Given the description of an element on the screen output the (x, y) to click on. 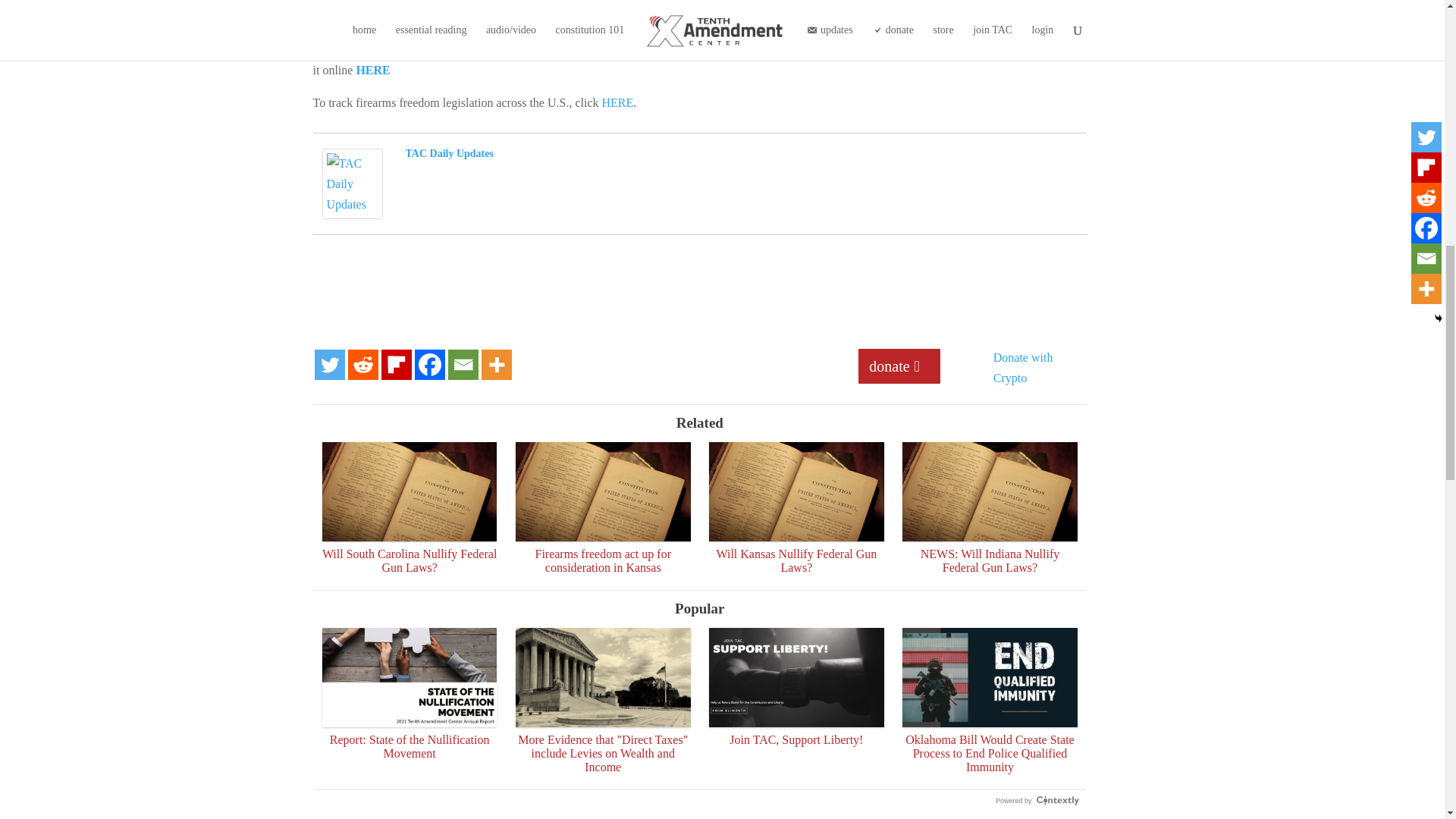
Email (461, 364)
Facebook (428, 364)
TAC Daily Updates (351, 208)
Flipboard (395, 364)
Twitter (328, 364)
Reddit (362, 364)
